Given the description of an element on the screen output the (x, y) to click on. 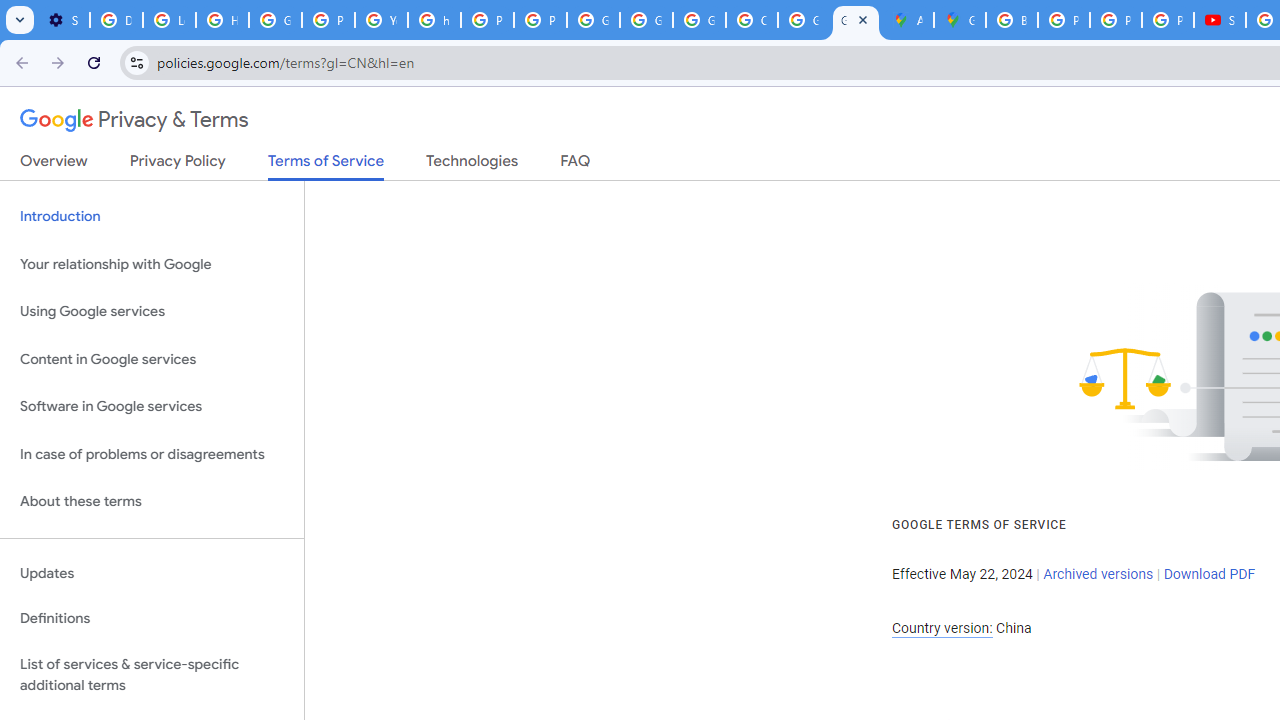
Privacy & Terms (134, 120)
Updates (152, 573)
